Given the description of an element on the screen output the (x, y) to click on. 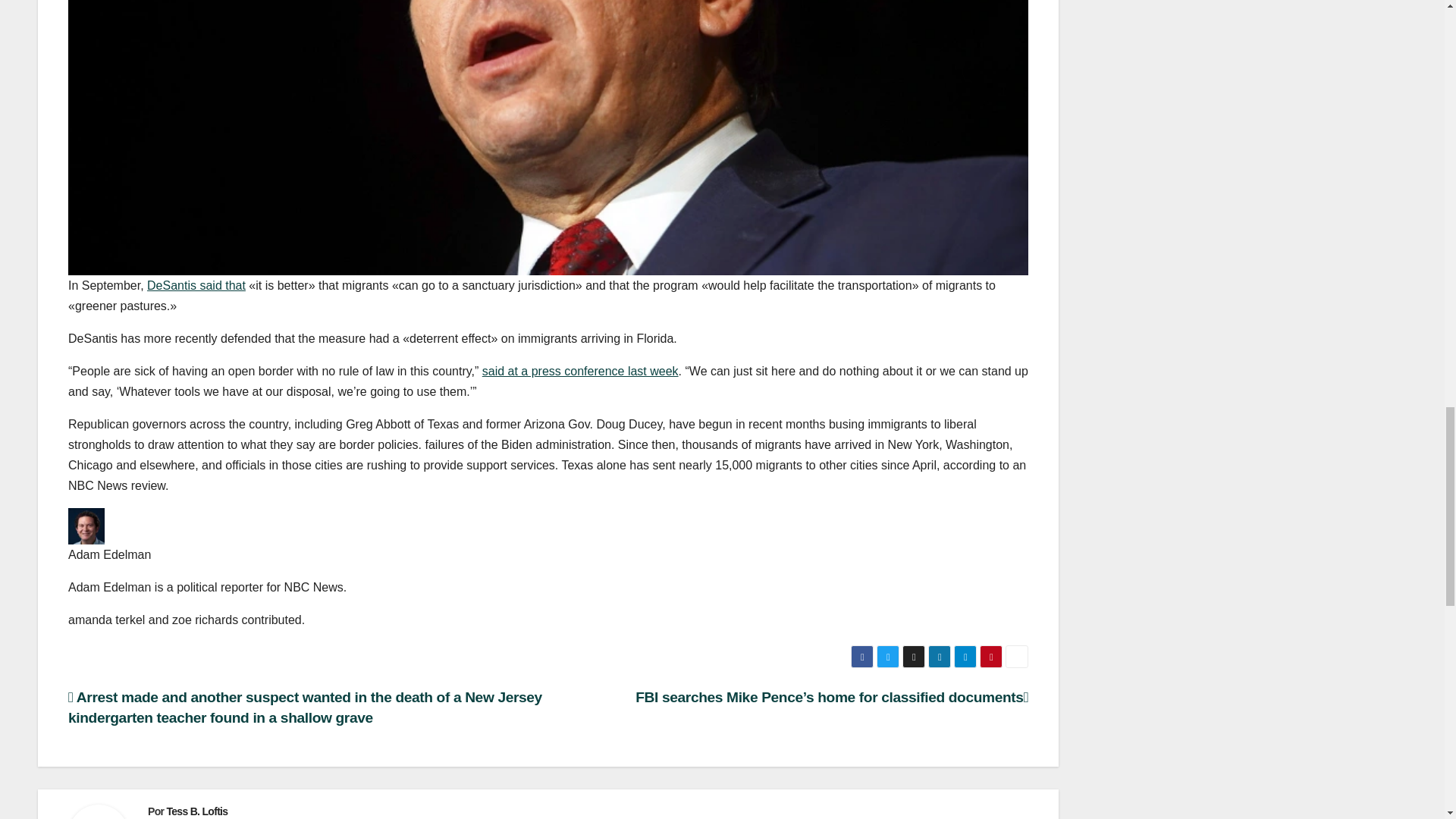
said at a press conference last week (579, 370)
DeSantis said that (196, 285)
Tess B. Loftis (196, 811)
